Given the description of an element on the screen output the (x, y) to click on. 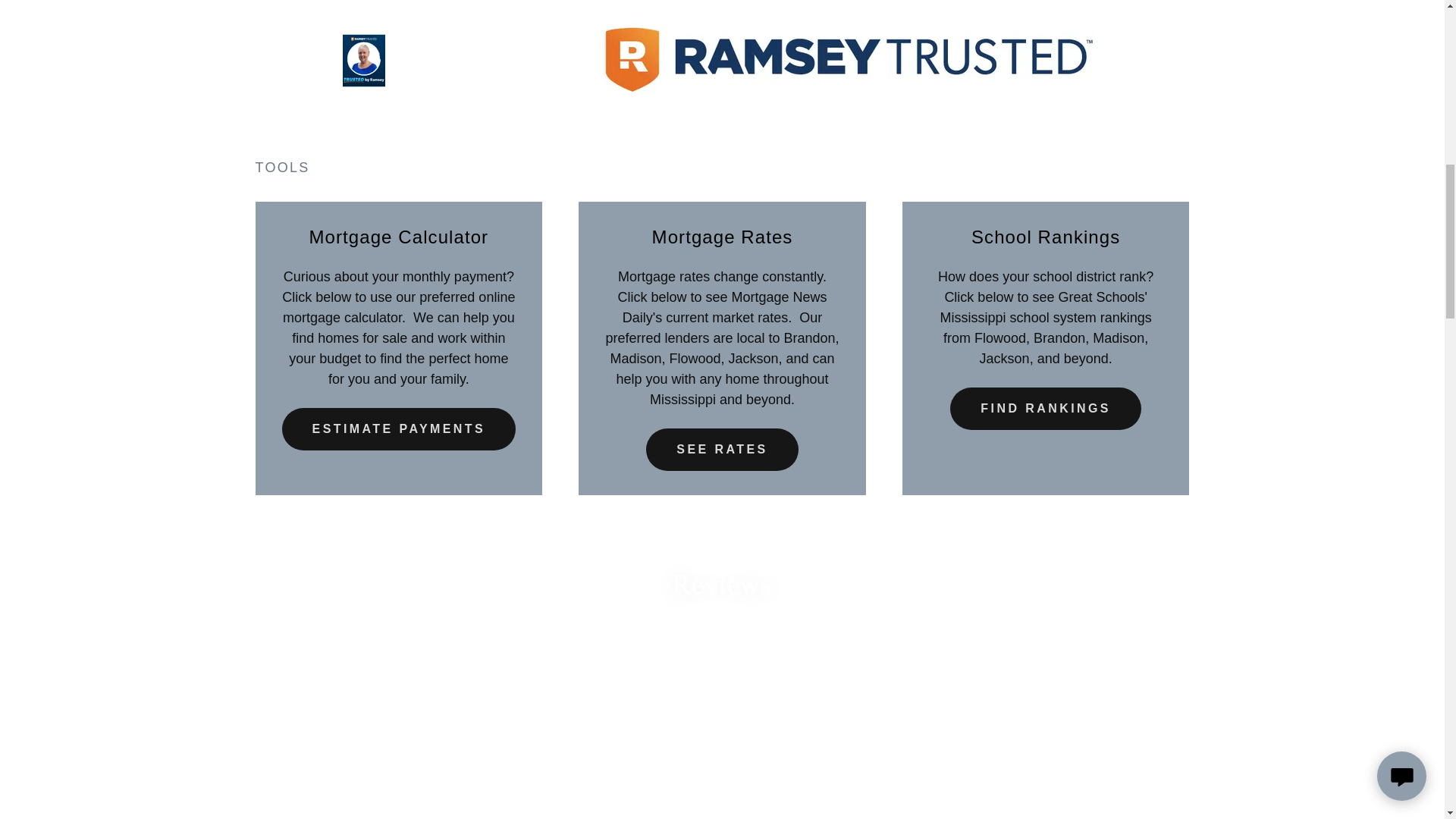
FIND RANKINGS (1045, 408)
SEE RATES (721, 449)
ESTIMATE PAYMENTS (399, 428)
